Given the description of an element on the screen output the (x, y) to click on. 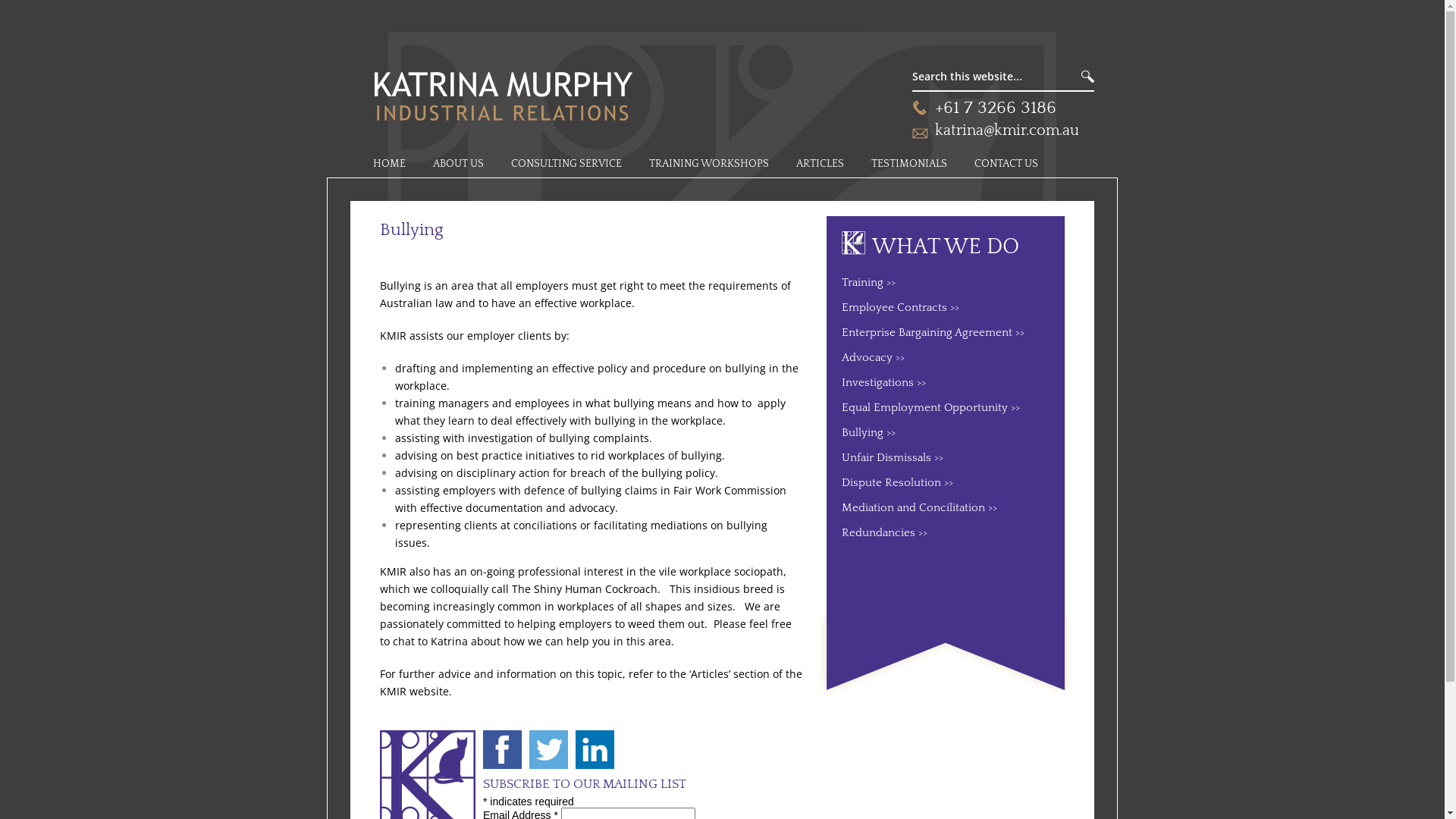
CONSULTING SERVICE Element type: text (566, 163)
Training Element type: text (868, 282)
Dispute Resolution Element type: text (897, 482)
ABOUT US Element type: text (458, 163)
TRAINING WORKSHOPS Element type: text (708, 163)
Unfair Dismissals Element type: text (892, 457)
Enterprise Bargaining Agreement Element type: text (932, 332)
Redundancies Element type: text (884, 532)
Katrina Murphy Industrial Relations Element type: text (532, 75)
TESTIMONIALS Element type: text (908, 163)
Advocacy Element type: text (872, 357)
Investigations Element type: text (883, 382)
Bullying Element type: text (868, 432)
ARTICLES Element type: text (819, 163)
Employee Contracts Element type: text (900, 307)
HOME Element type: text (389, 163)
CONTACT US Element type: text (1005, 163)
Equal Employment Opportunity Element type: text (930, 407)
Mediation and Concilitation Element type: text (919, 507)
